Given the description of an element on the screen output the (x, y) to click on. 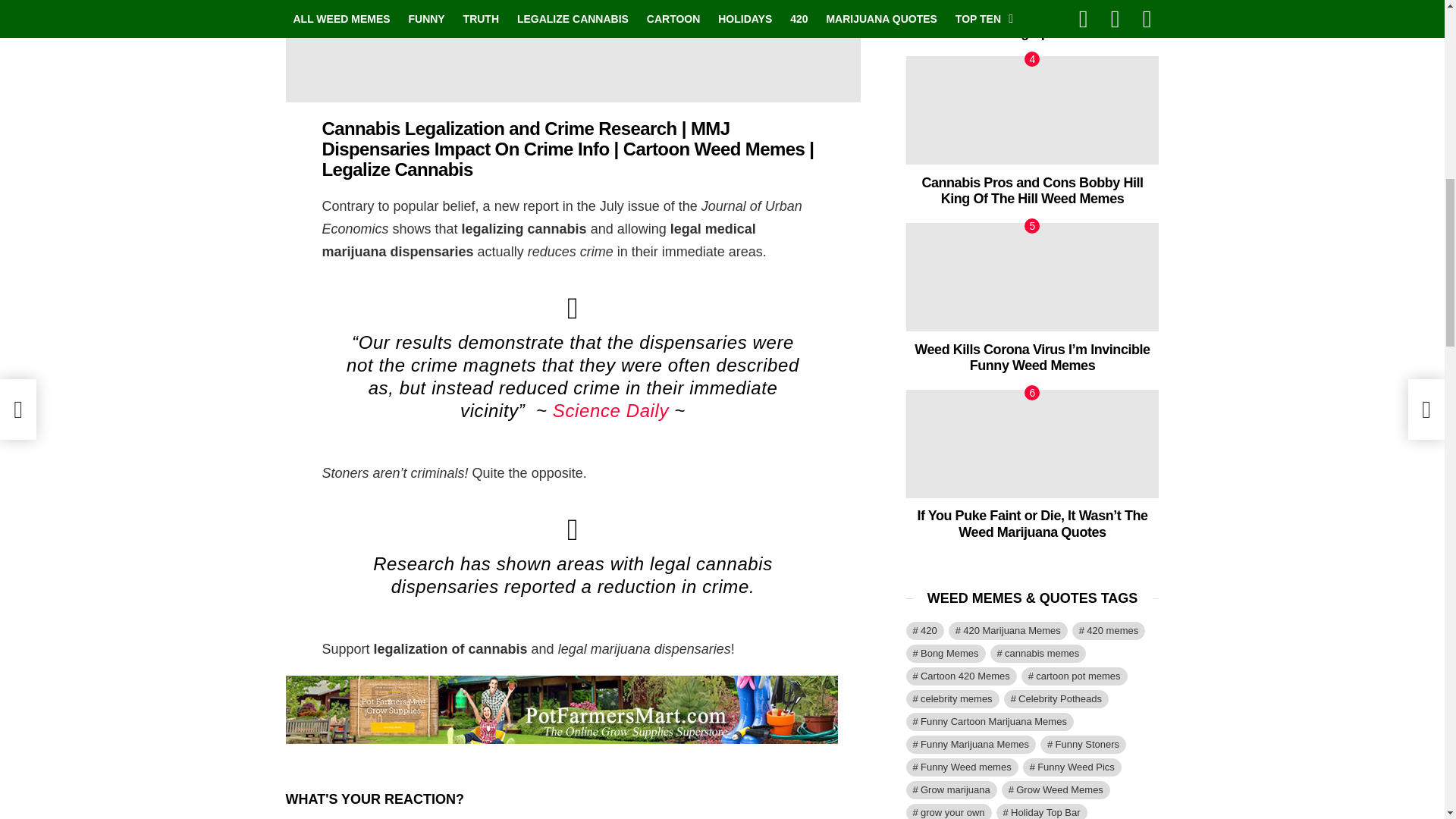
Marijuana Growing Supplies Grow Cannabis (561, 732)
